Given the description of an element on the screen output the (x, y) to click on. 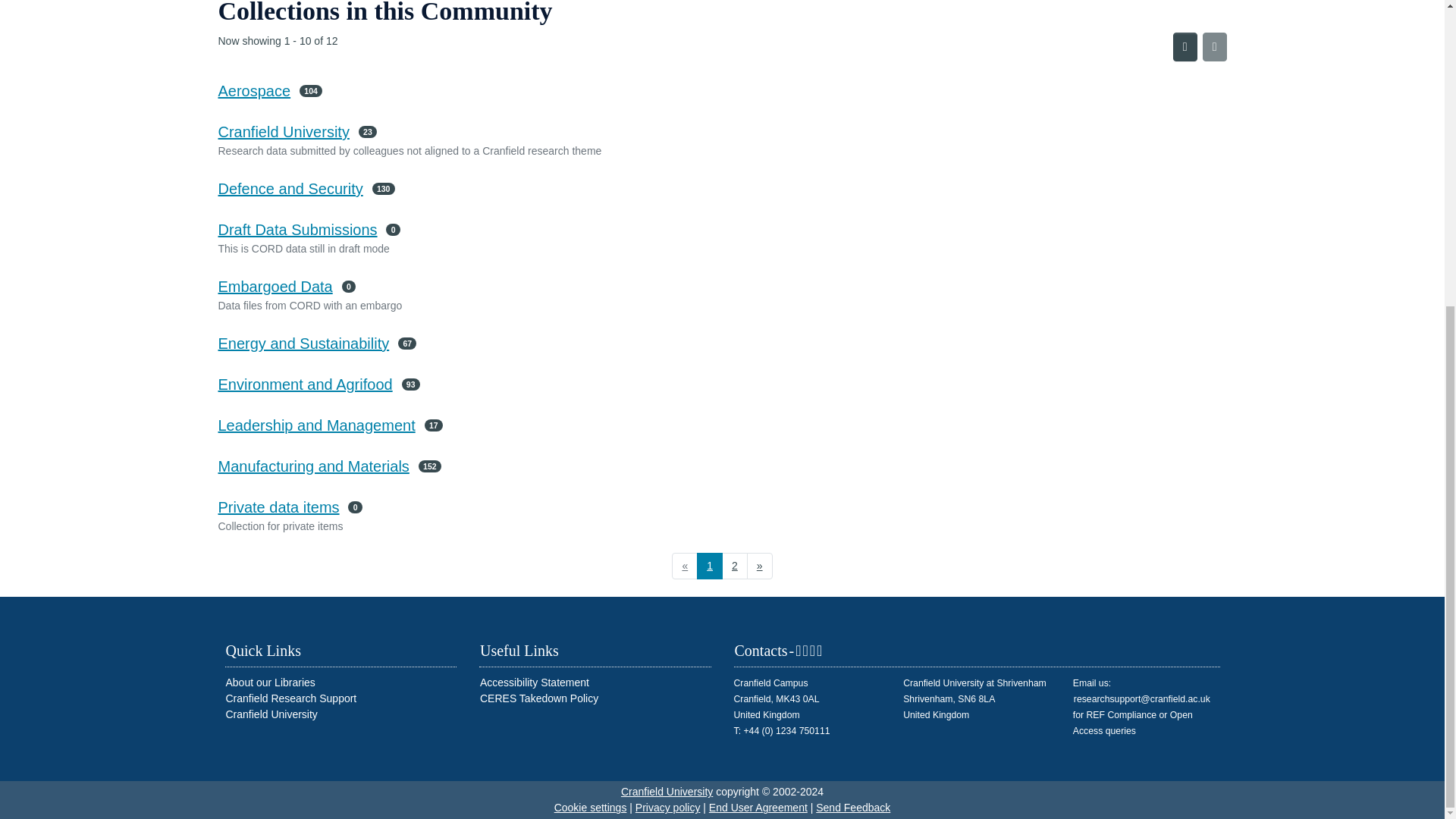
Cranfield University (283, 131)
Aerospace (254, 90)
Draft Data Submissions (297, 229)
Leadership and Management (316, 425)
Embargoed Data (275, 286)
Environment and Agrifood (305, 384)
Energy and Sustainability (304, 343)
Defence and Security (290, 188)
